Given the description of an element on the screen output the (x, y) to click on. 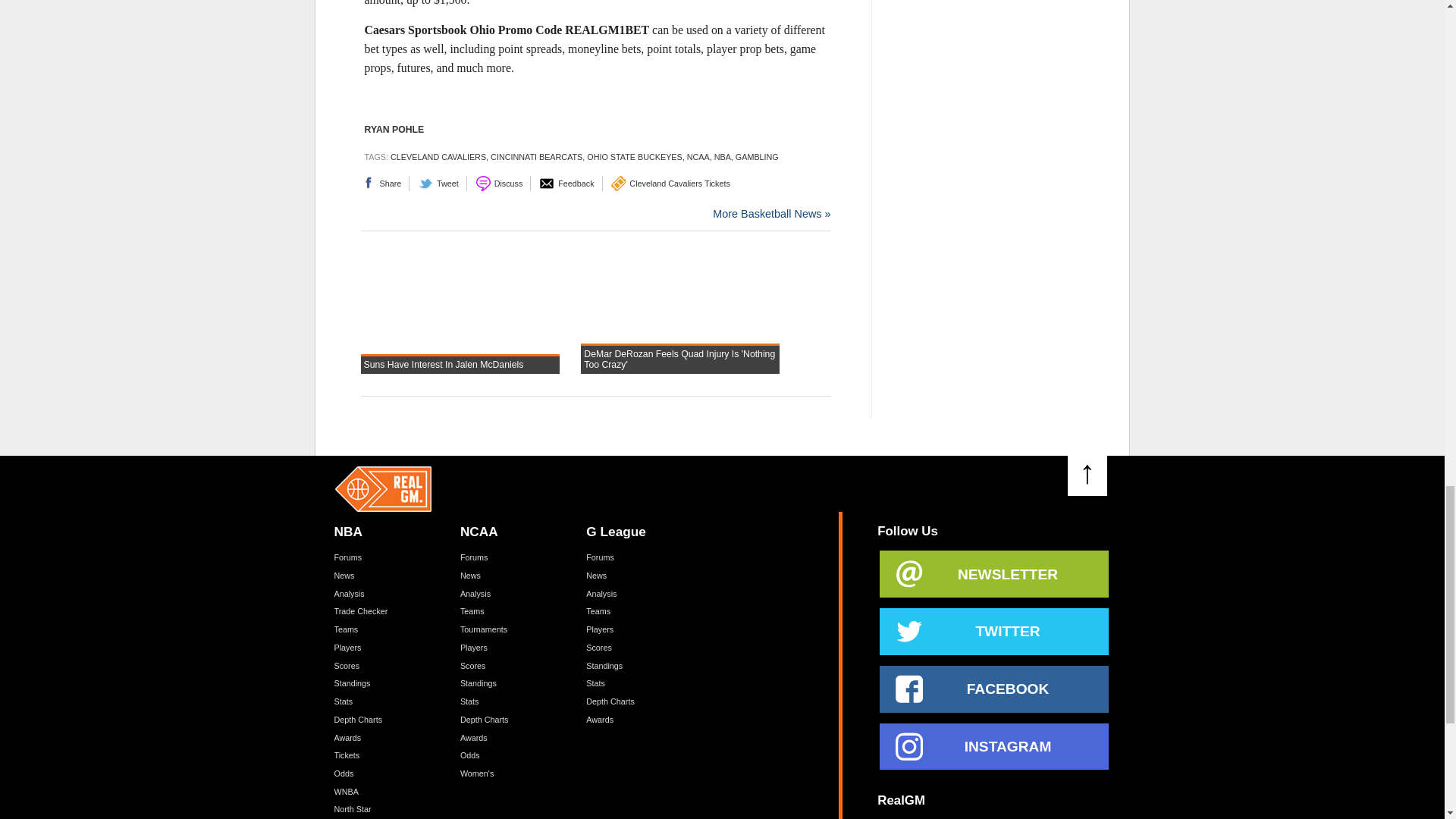
Share (385, 183)
Send Feedback (570, 183)
Tweet (442, 183)
Discuss (503, 183)
Buy Tickets (673, 183)
